Given the description of an element on the screen output the (x, y) to click on. 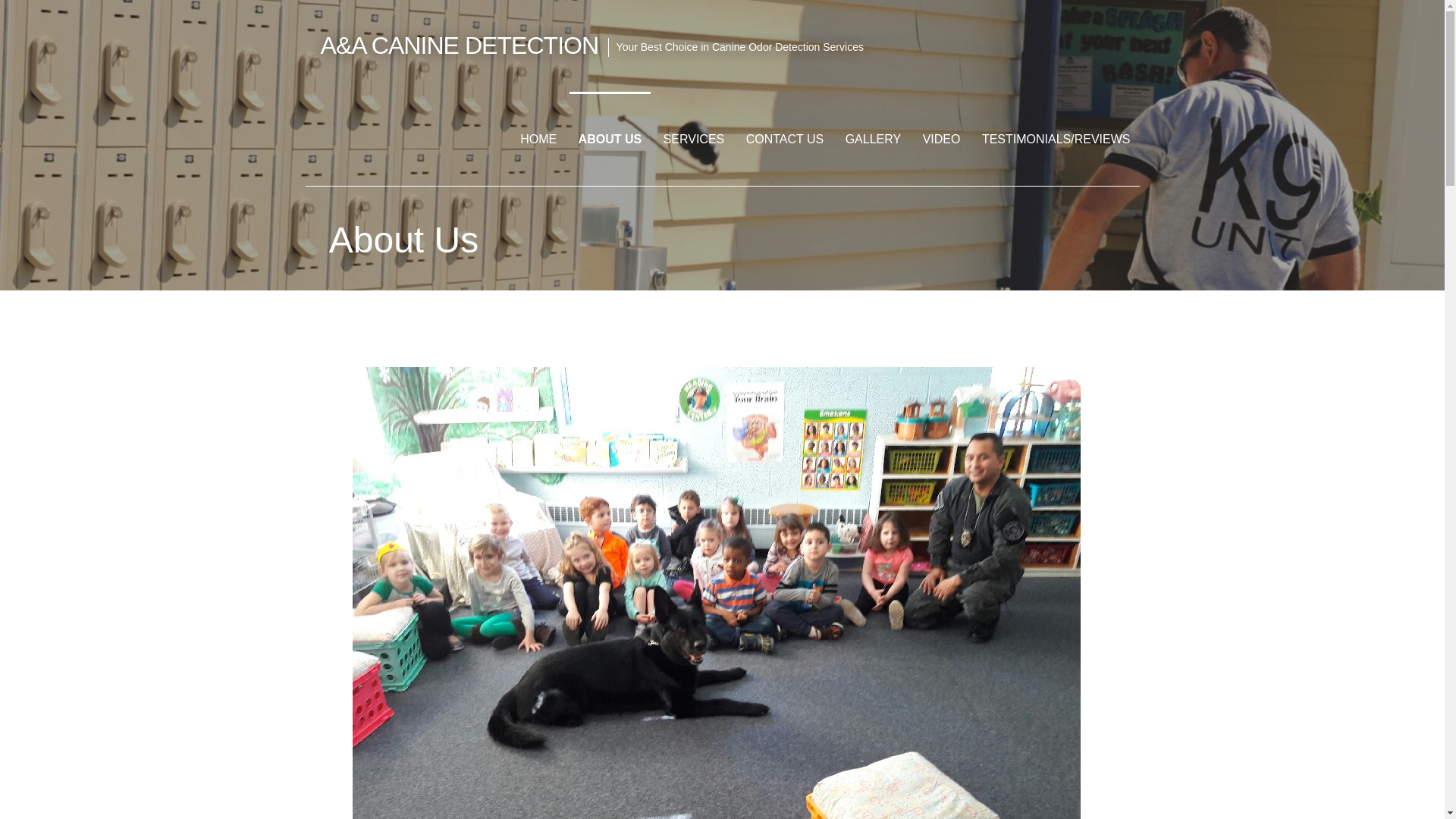
CONTACT US (784, 138)
